Given the description of an element on the screen output the (x, y) to click on. 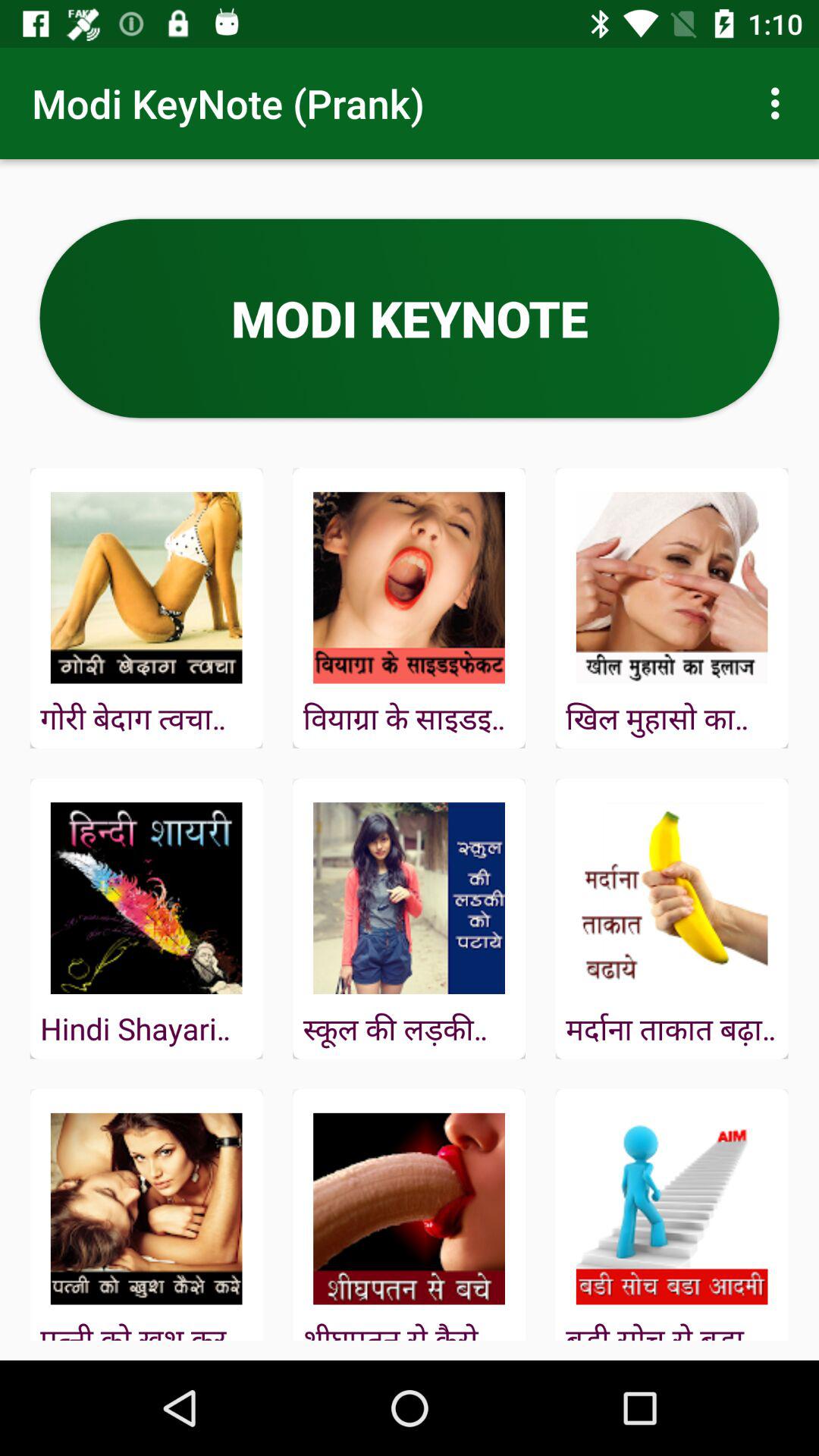
tap icon next to modi keynote (prank) icon (779, 103)
